Given the description of an element on the screen output the (x, y) to click on. 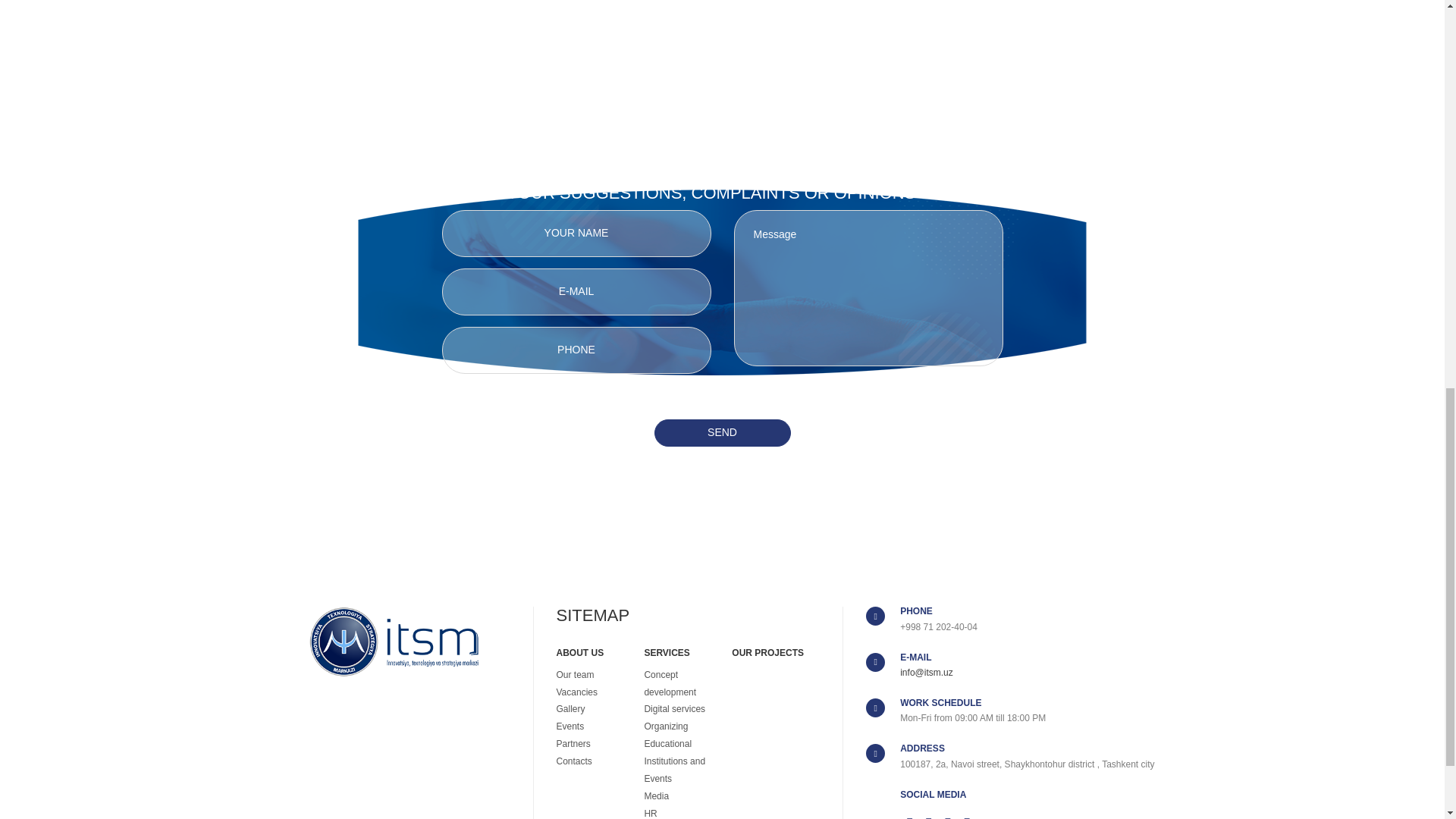
Contact us (721, 137)
